Given the description of an element on the screen output the (x, y) to click on. 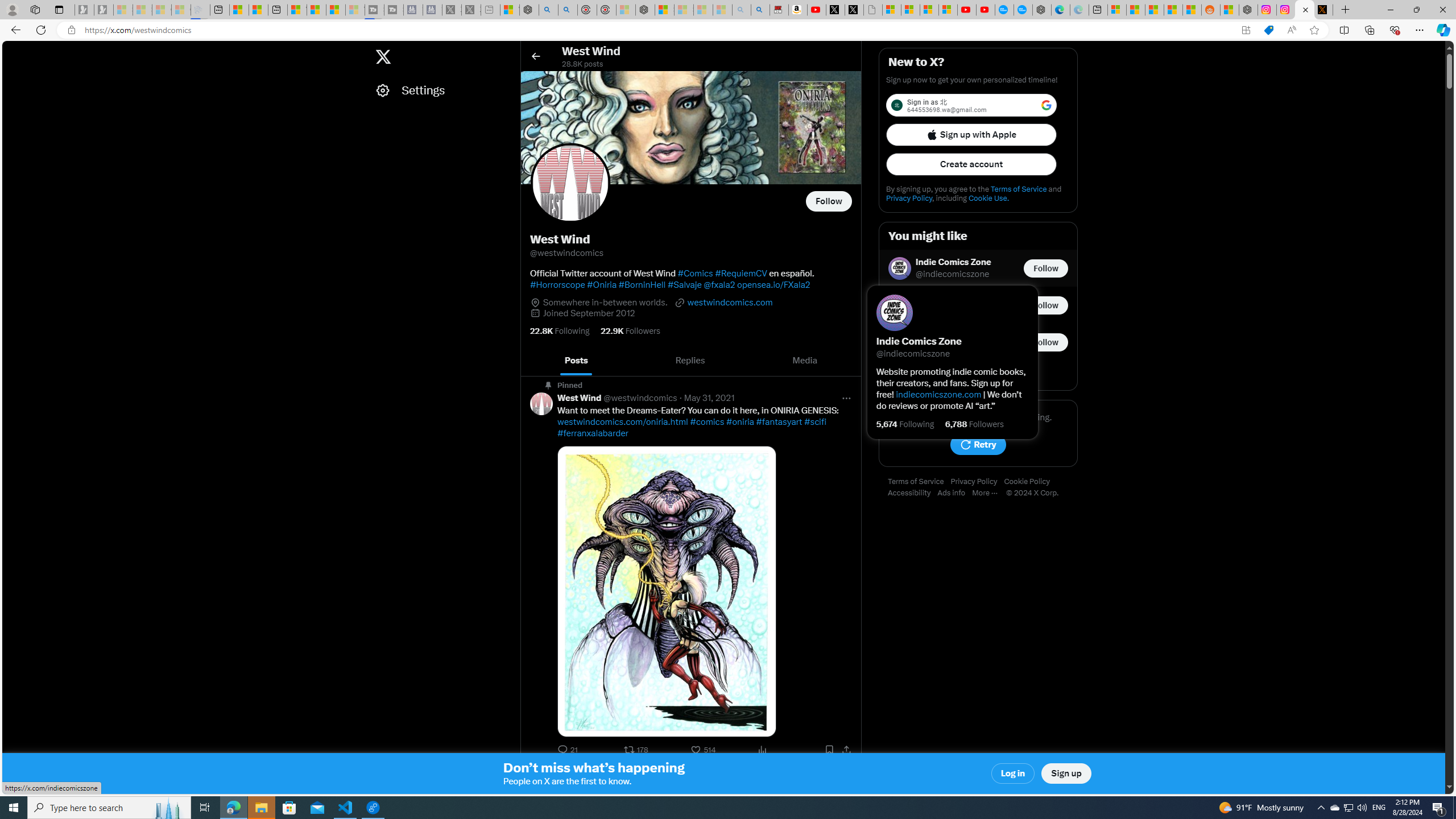
Class: LgbsSe-Bz112c (1046, 104)
Show more (978, 375)
22.9K Followers (630, 331)
#oniria (739, 421)
